Given the description of an element on the screen output the (x, y) to click on. 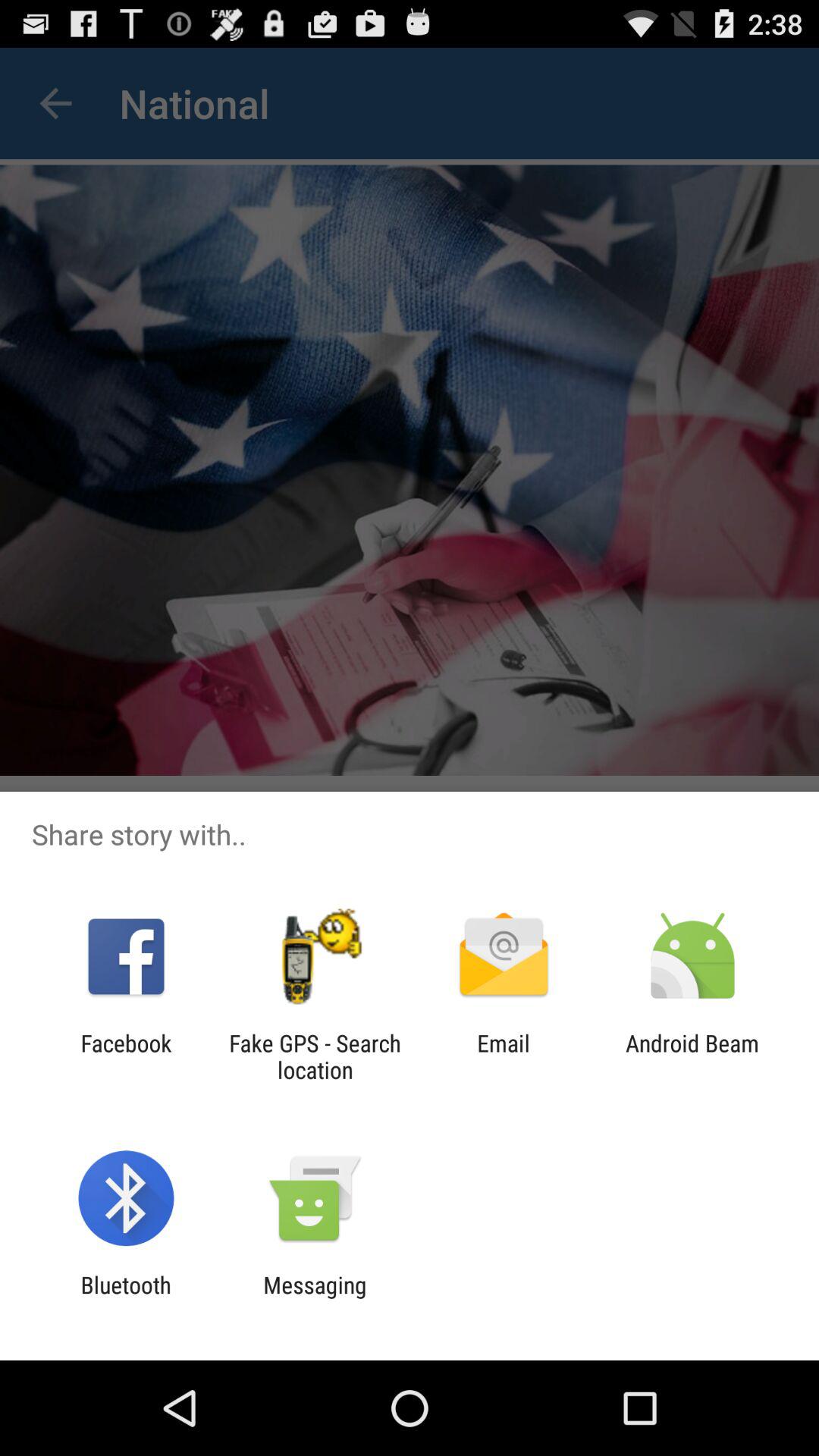
press messaging app (314, 1298)
